Given the description of an element on the screen output the (x, y) to click on. 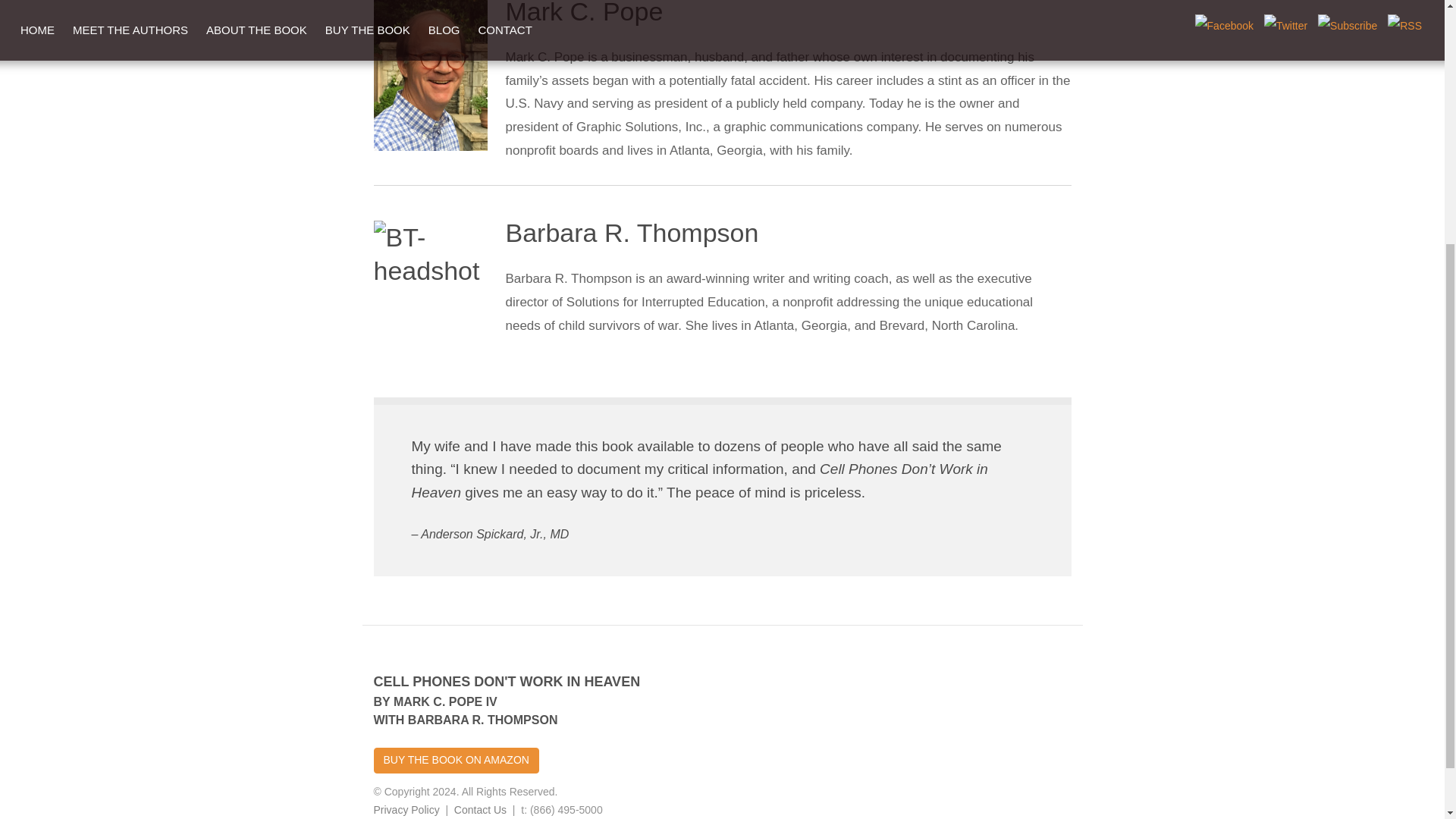
Contact Us (480, 809)
BUY THE BOOK ON AMAZON (455, 760)
Privacy Policy (405, 809)
